Given the description of an element on the screen output the (x, y) to click on. 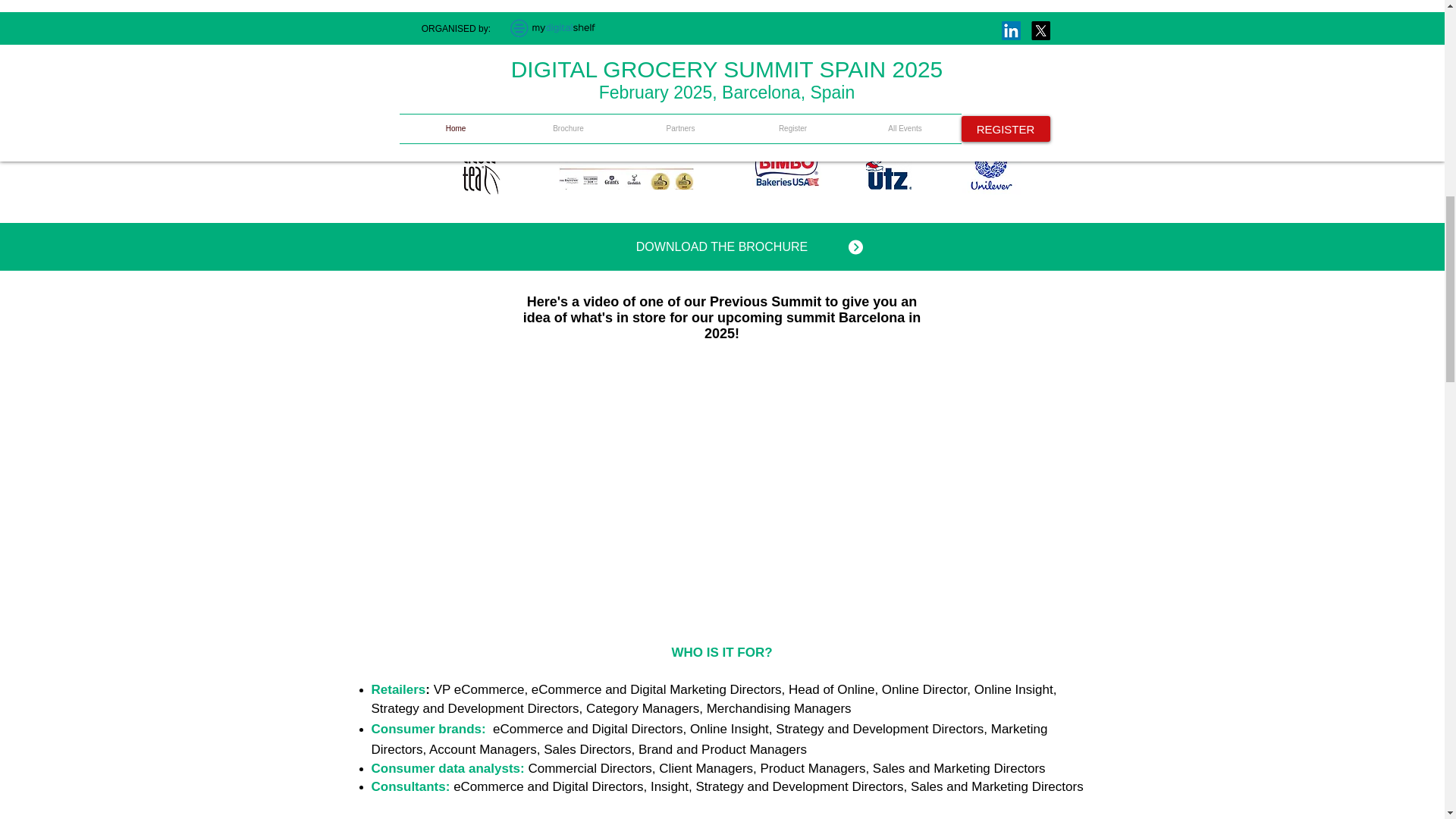
External YouTube (721, 474)
DOWNLOAD THE BROCHURE (722, 246)
